Given the description of an element on the screen output the (x, y) to click on. 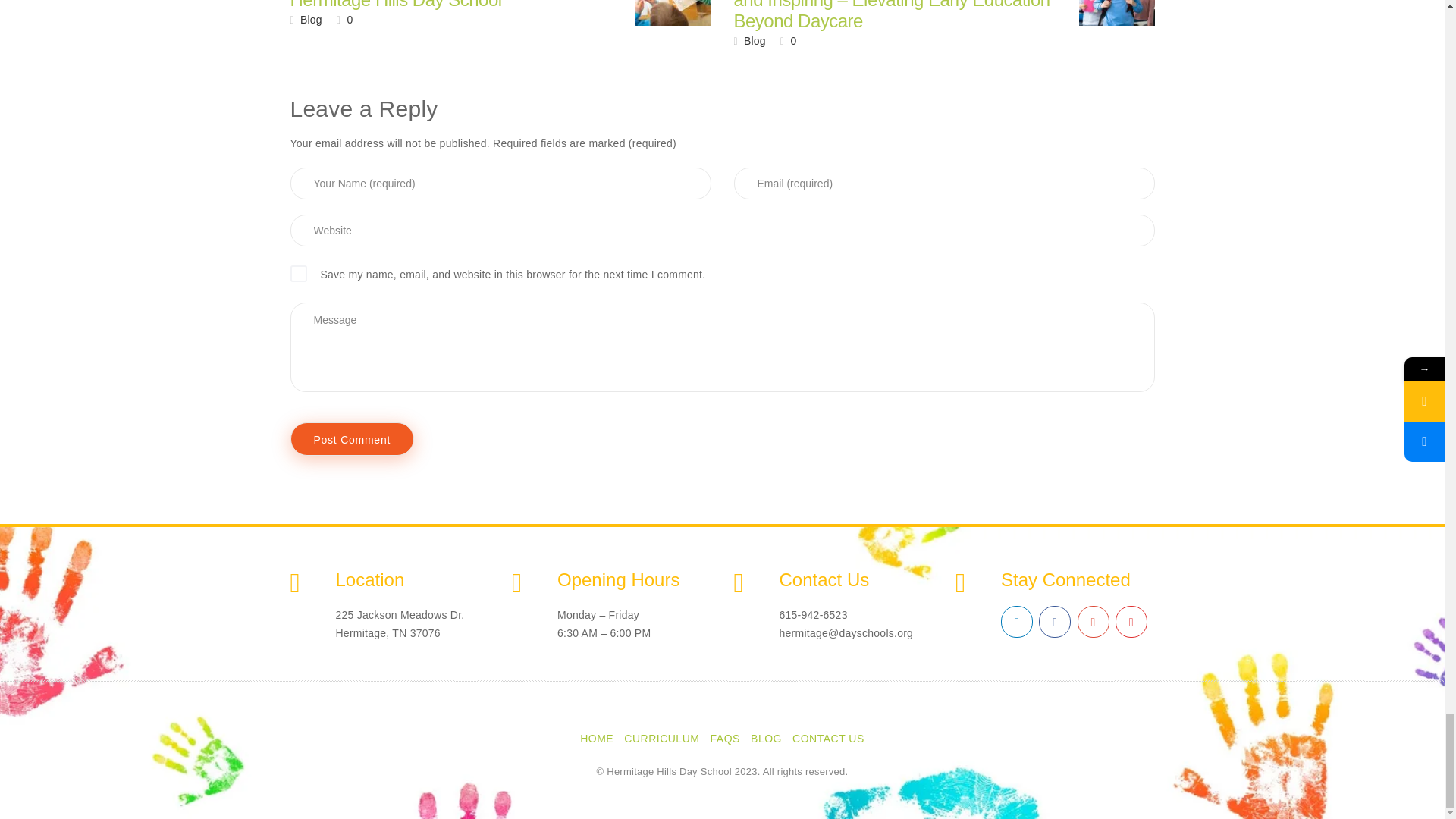
Post Comment (351, 438)
